Given the description of an element on the screen output the (x, y) to click on. 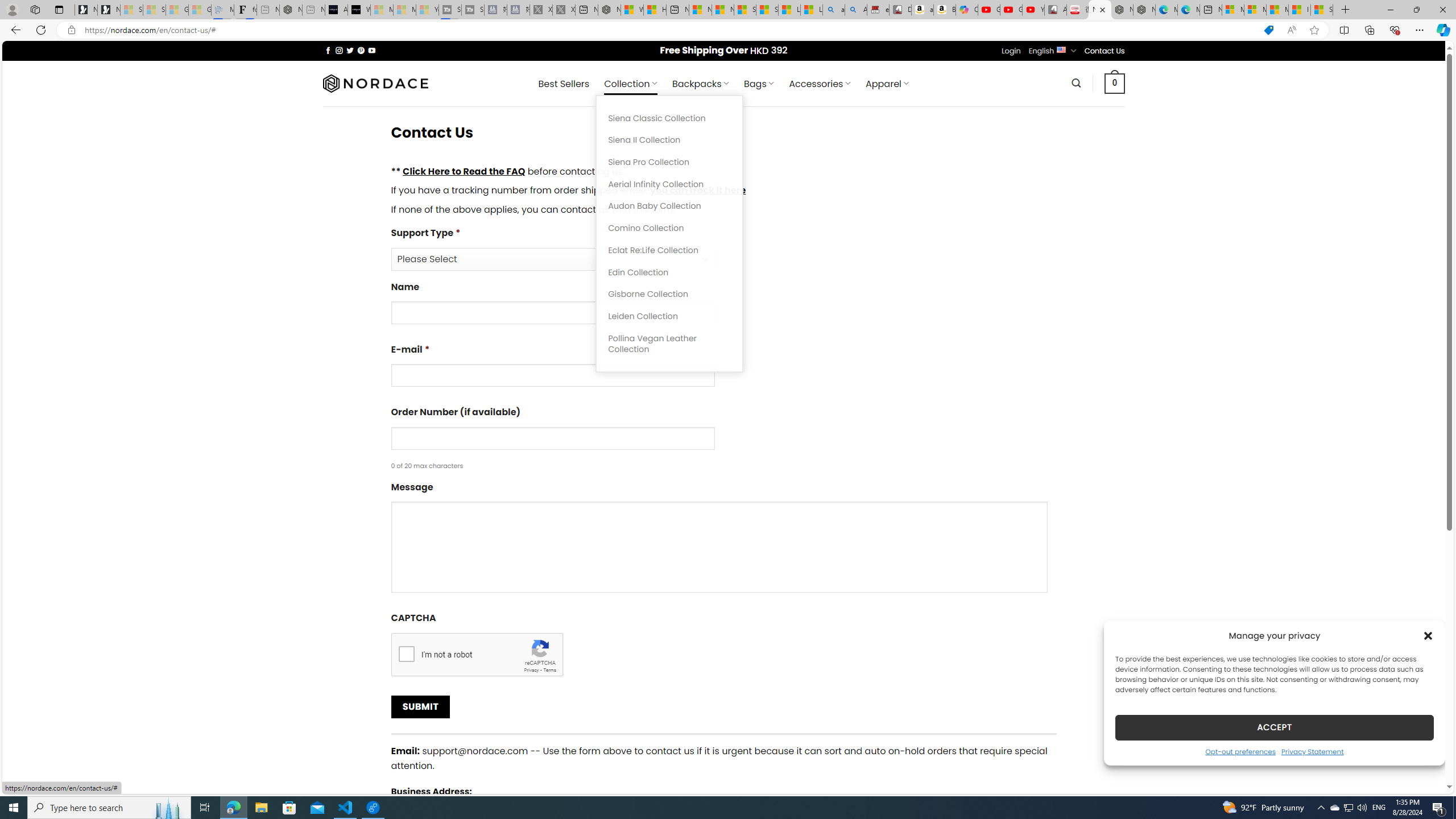
Name (723, 306)
Gisborne Collection (669, 294)
Siena Classic Collection (669, 118)
Pollina Vegan Leather Collection (669, 343)
